Given the description of an element on the screen output the (x, y) to click on. 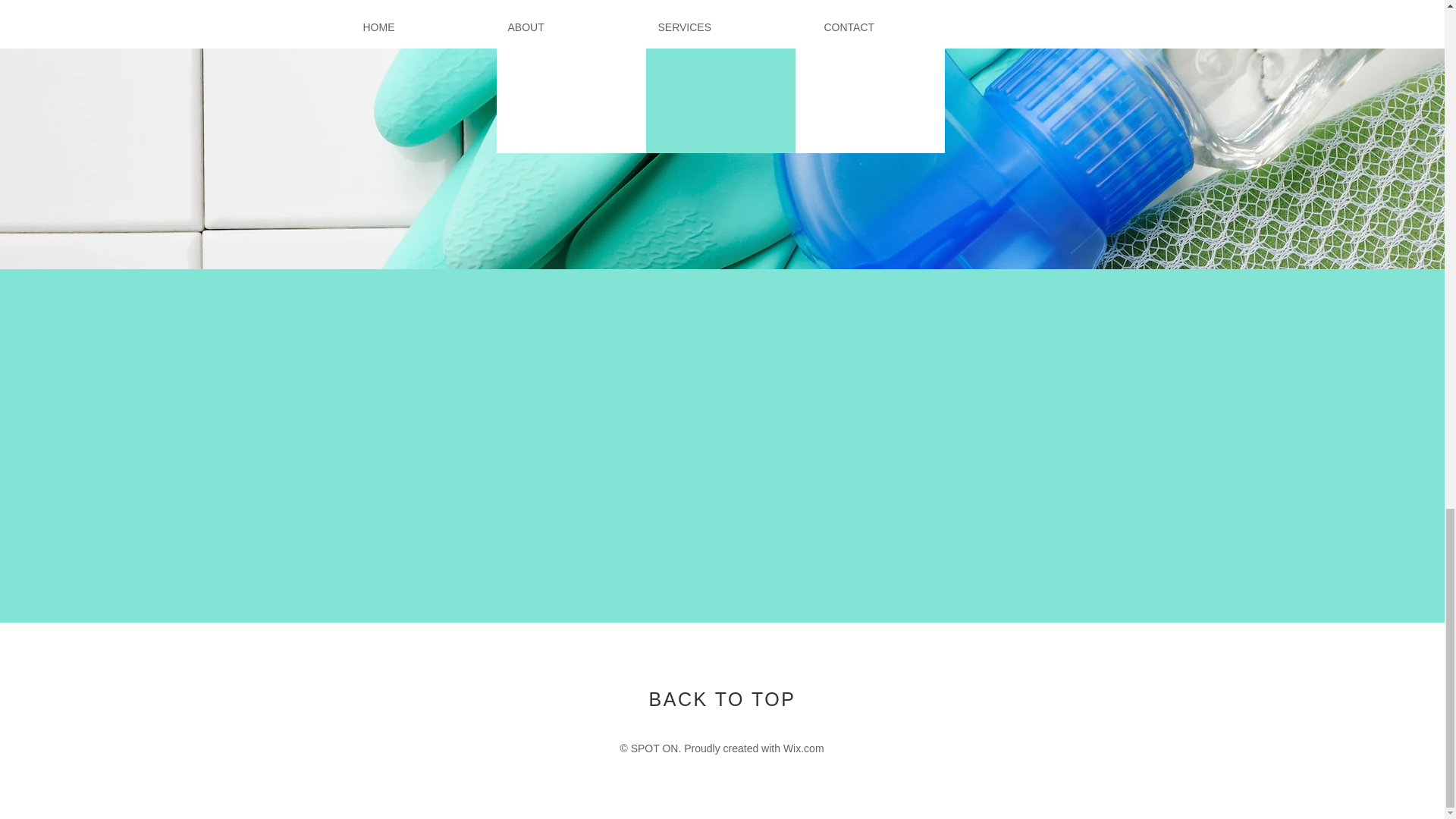
BACK TO TOP (722, 699)
Wix.com (803, 748)
